Given the description of an element on the screen output the (x, y) to click on. 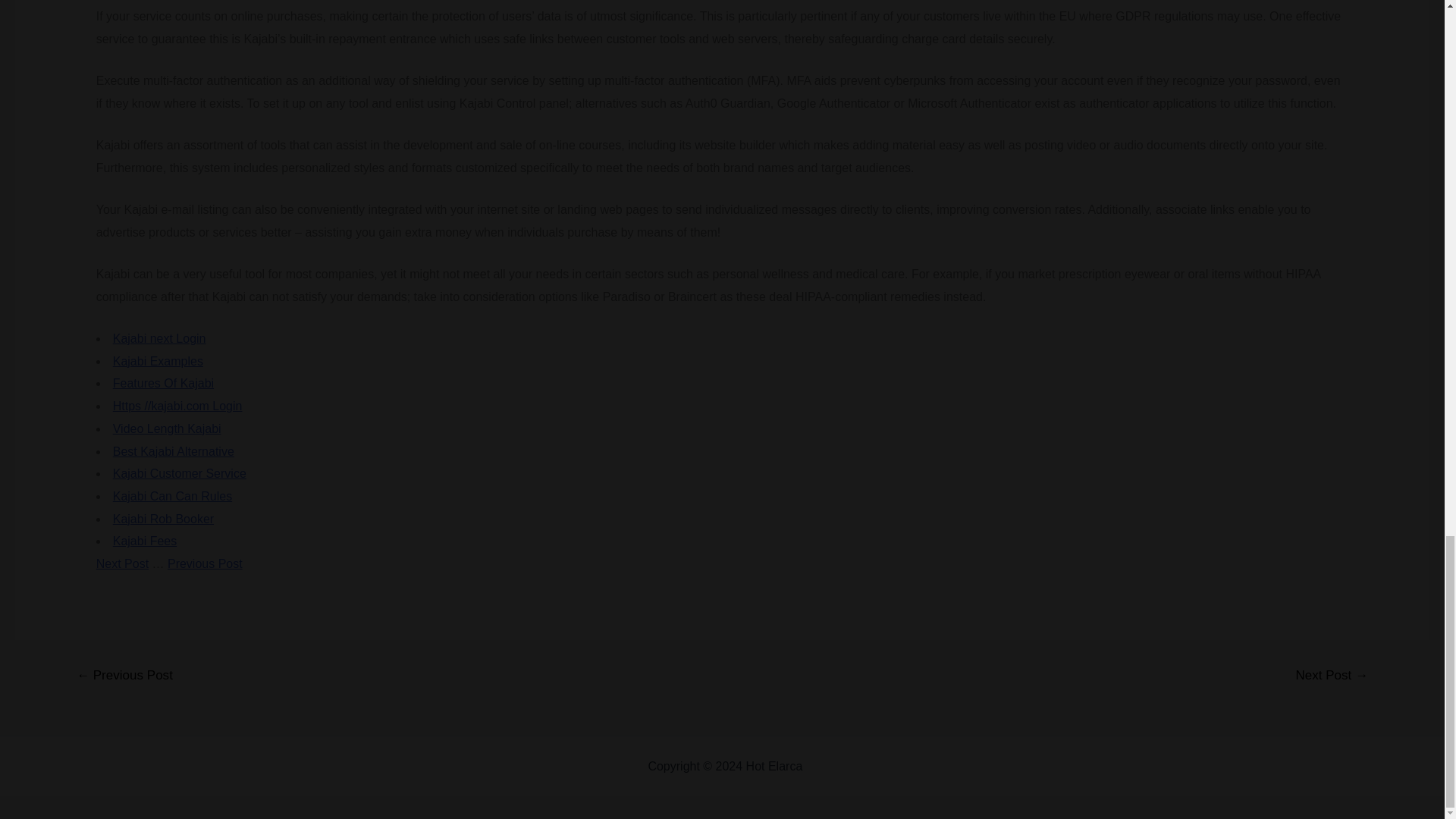
Kajabi Fees (145, 540)
Kajabi Examples (158, 360)
Best Kajabi Alternative (173, 451)
Kajabi next Login (159, 338)
Kajabi Customer Service (179, 472)
Best Kajabi Alternative (173, 451)
Video Length Kajabi (167, 428)
Features Of Kajabi (163, 382)
Next Post (122, 563)
Kajabi Rob Booker (163, 518)
